Given the description of an element on the screen output the (x, y) to click on. 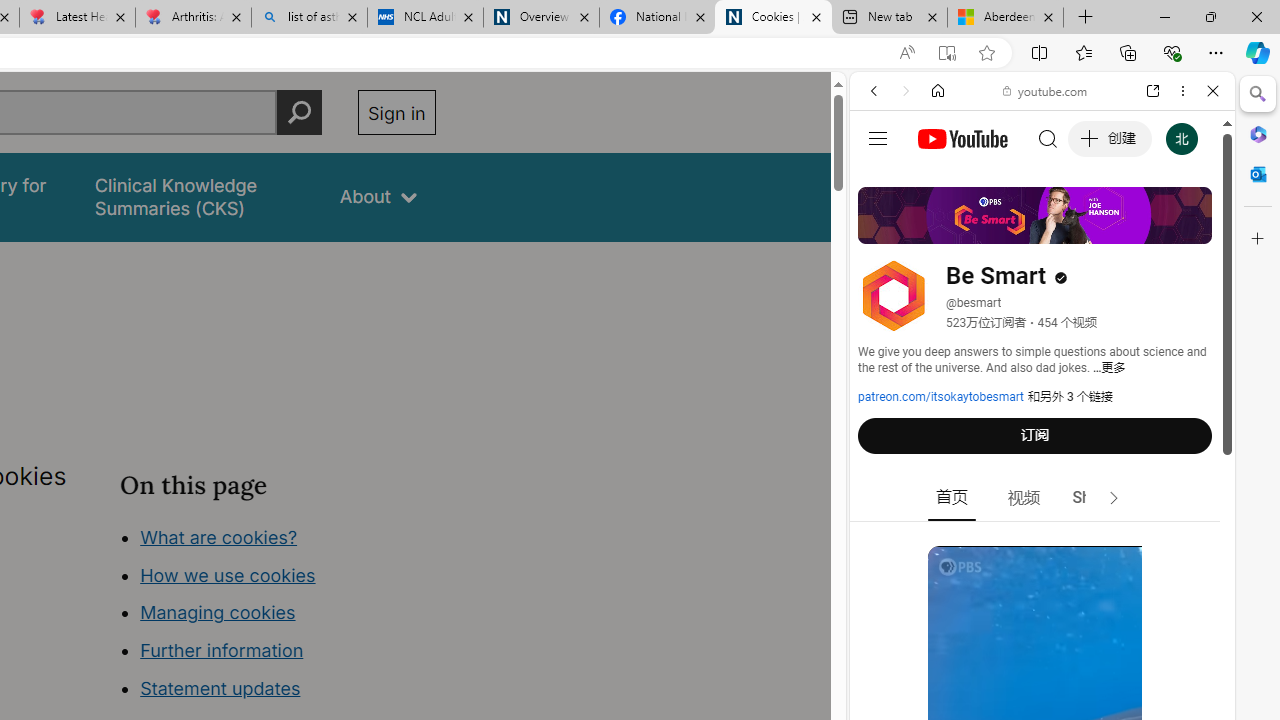
SEARCH TOOLS (1093, 228)
false (198, 196)
Perform search (299, 112)
Managing cookies (217, 612)
Music (1042, 543)
Class: in-page-nav__list (277, 615)
Arthritis: Ask Health Professionals (192, 17)
Music (1042, 543)
youtube.com (1046, 90)
